Given the description of an element on the screen output the (x, y) to click on. 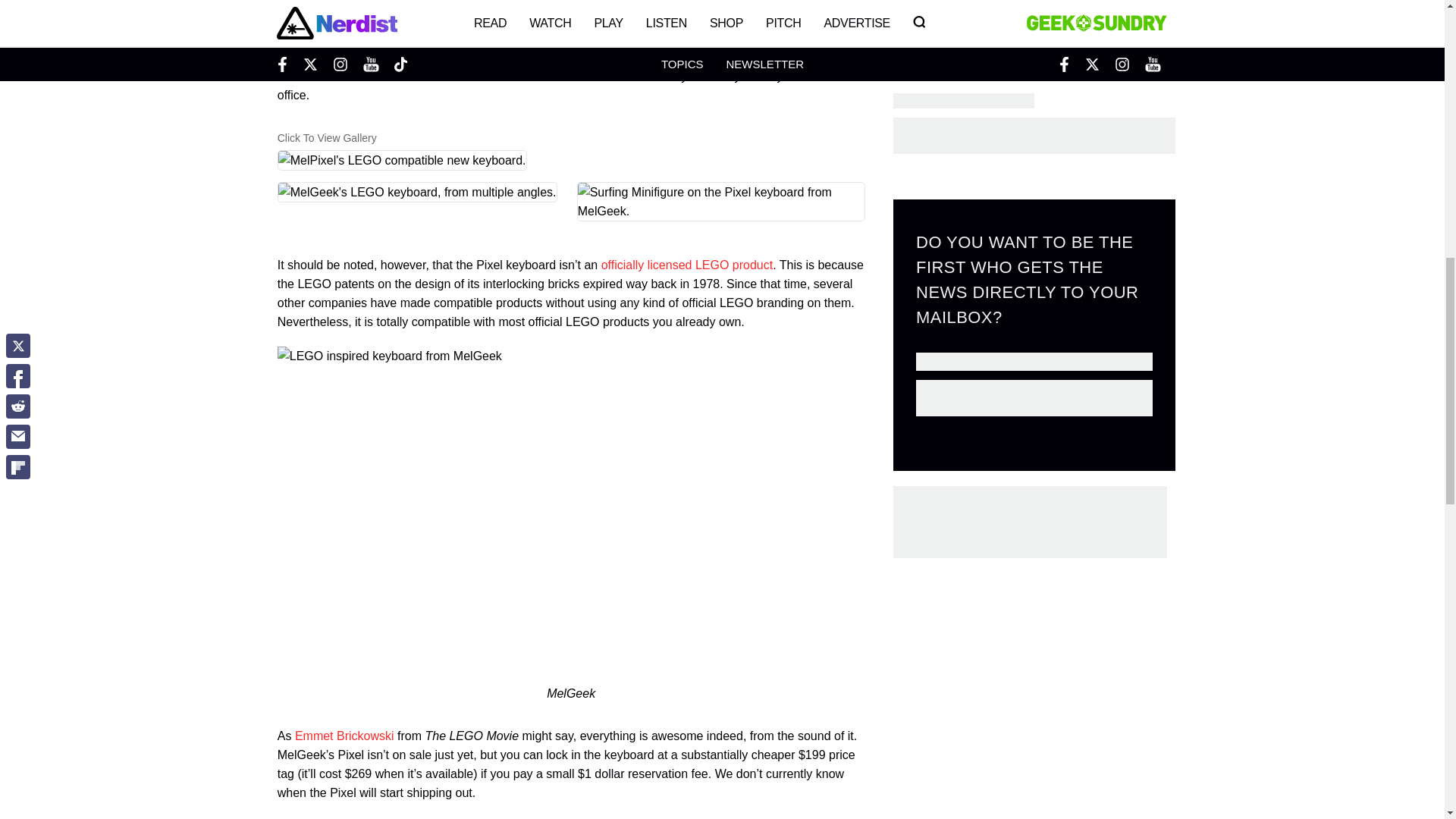
Minifigures (545, 19)
Emmet Brickowski (344, 735)
officially licensed LEGO product (687, 264)
